Given the description of an element on the screen output the (x, y) to click on. 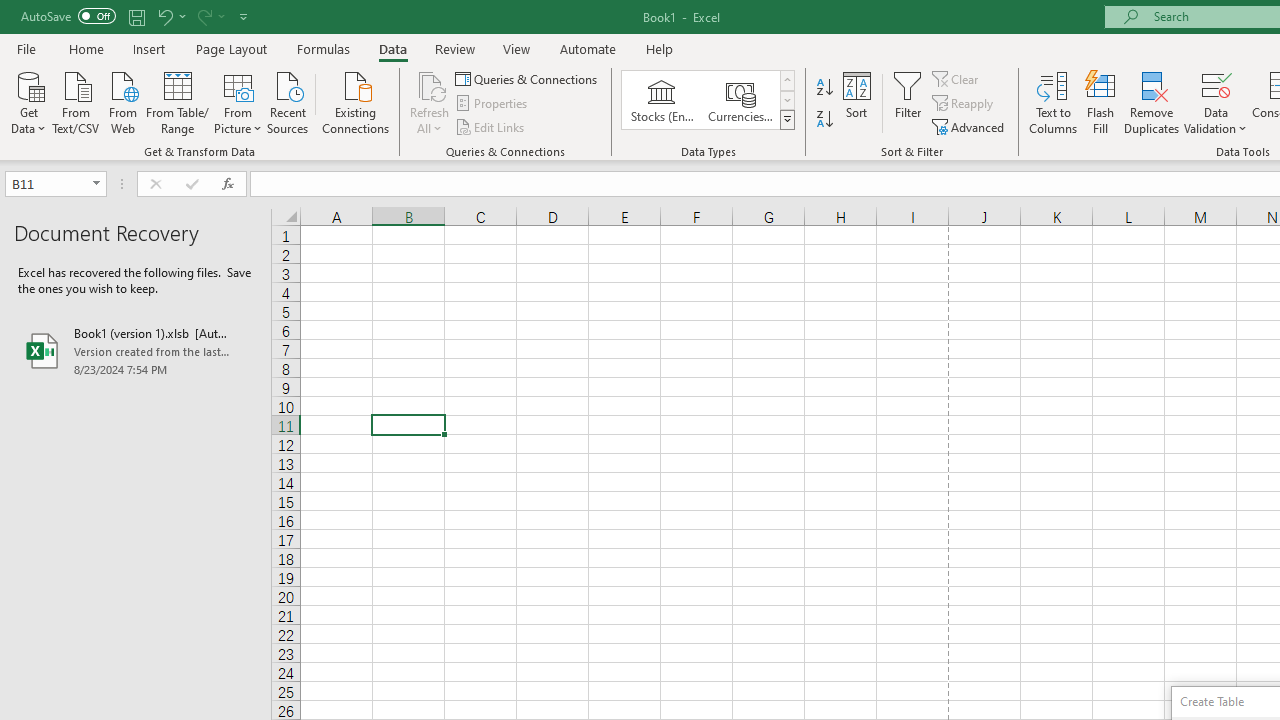
Reapply (964, 103)
Get Data (28, 101)
Class: NetUIImage (787, 119)
Row Down (786, 100)
Stocks (English) (662, 100)
Filter (908, 102)
